Given the description of an element on the screen output the (x, y) to click on. 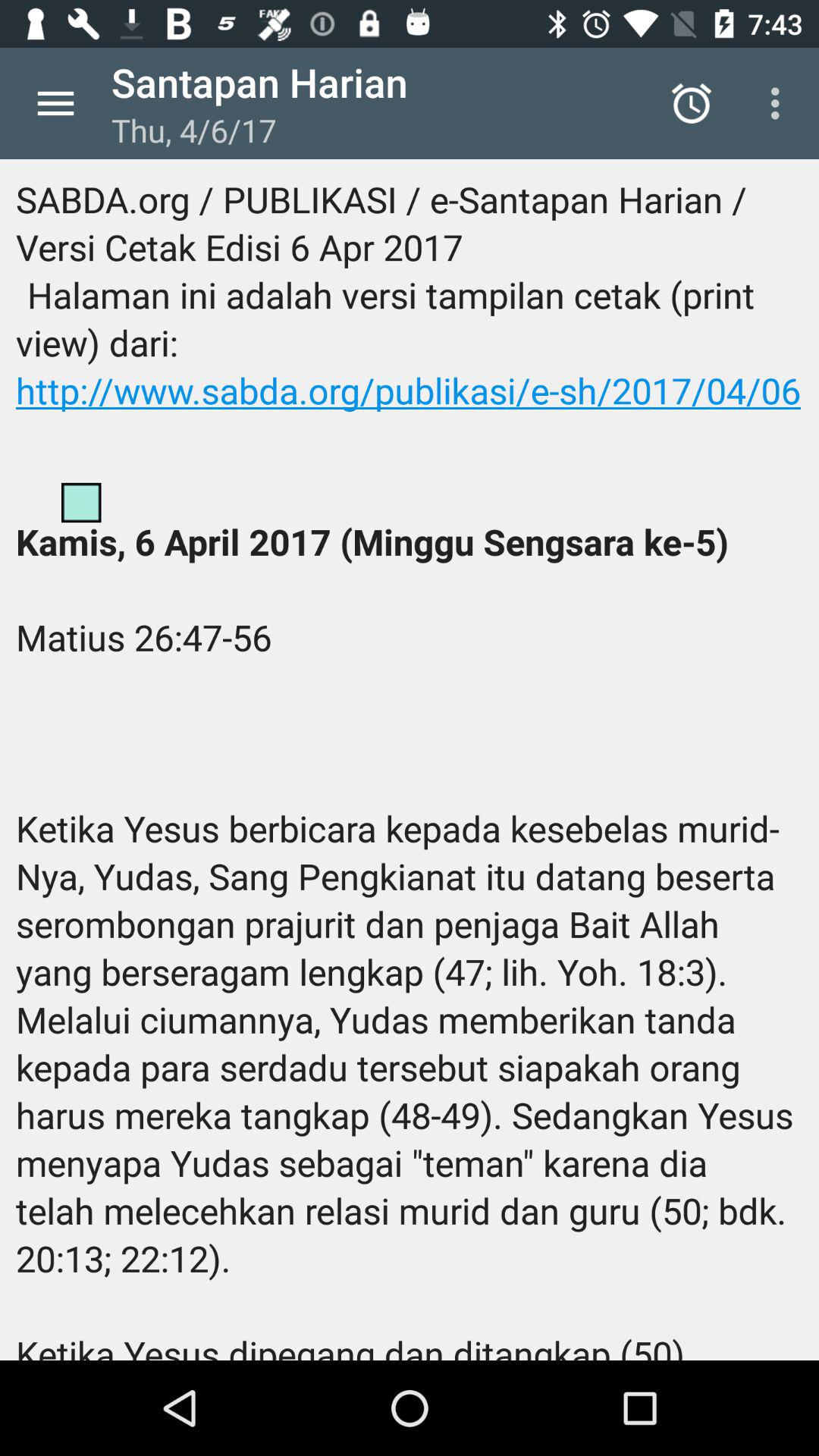
flip until sabda org publikasi (409, 759)
